Given the description of an element on the screen output the (x, y) to click on. 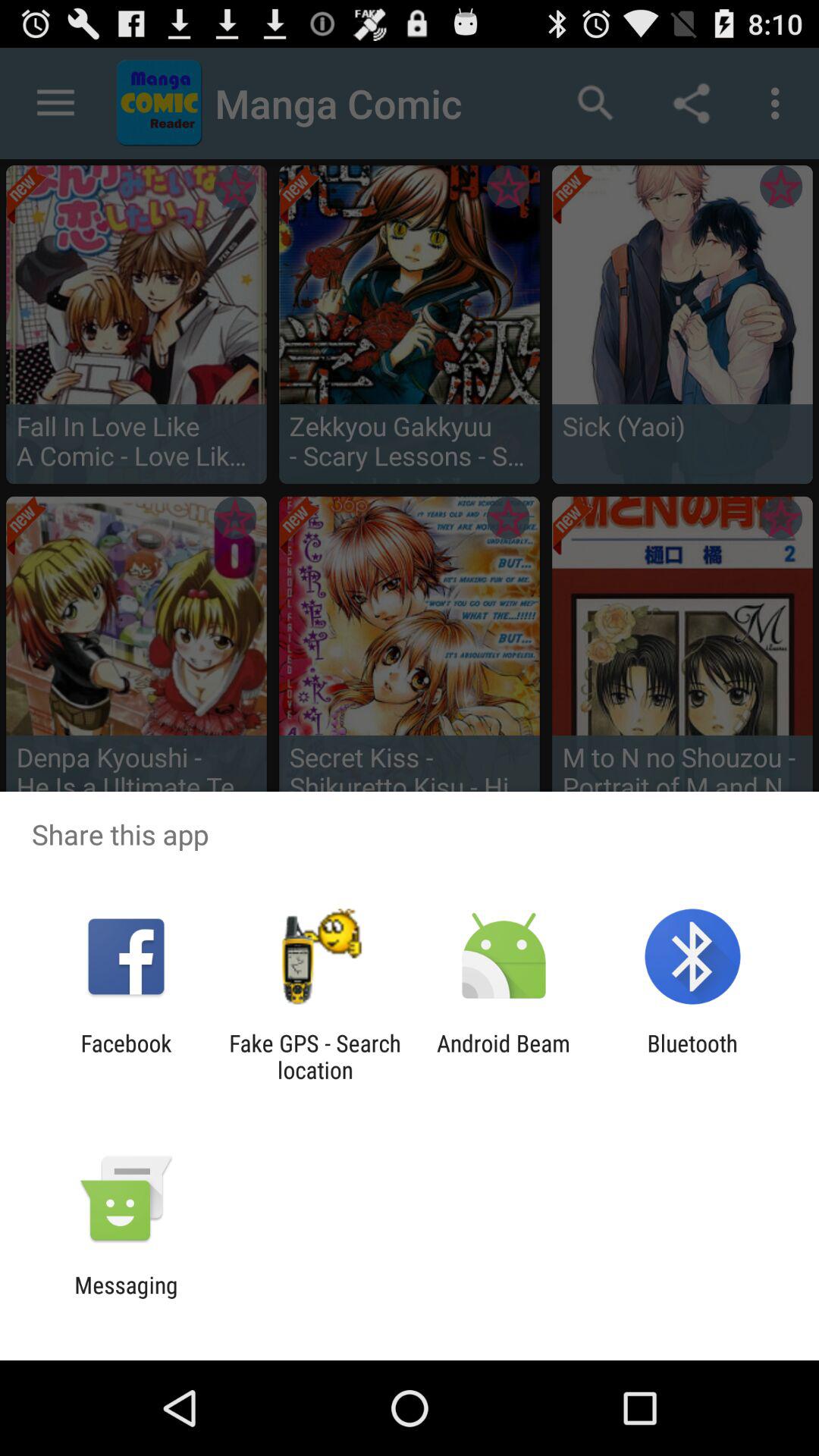
jump until the bluetooth icon (692, 1056)
